Given the description of an element on the screen output the (x, y) to click on. 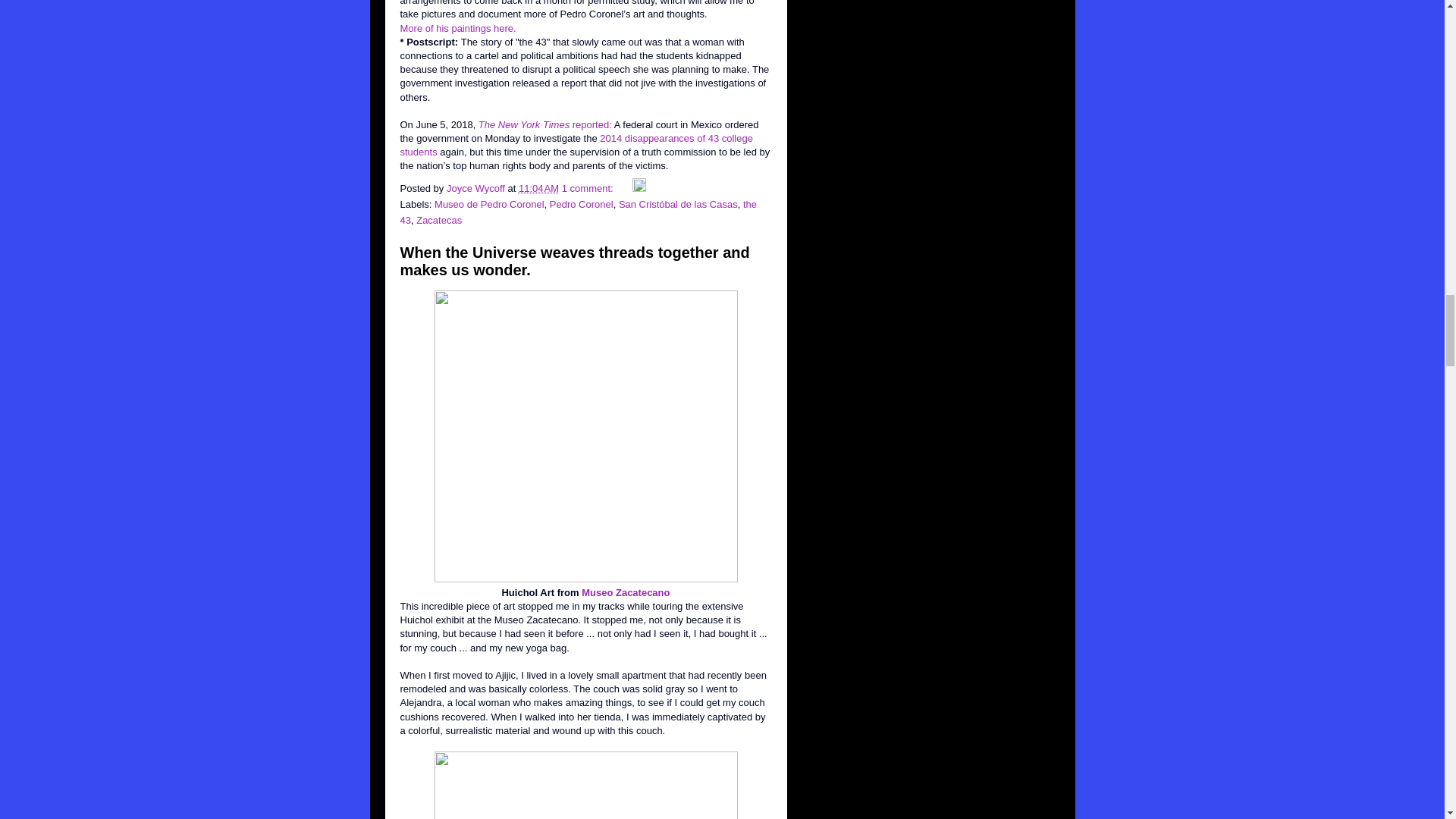
author profile (477, 188)
Joyce Wycoff (477, 188)
permanent link (538, 188)
the 43 (578, 212)
2014 disappearances of 43 college students (576, 145)
Pedro Coronel (581, 204)
Zacatecas (438, 220)
The New York Times reported: (545, 124)
Edit Post (638, 188)
Email Post (623, 188)
More of his paintings here. (458, 28)
Museo de Pedro Coronel (488, 204)
Museo Zacatecano (624, 592)
